Given the description of an element on the screen output the (x, y) to click on. 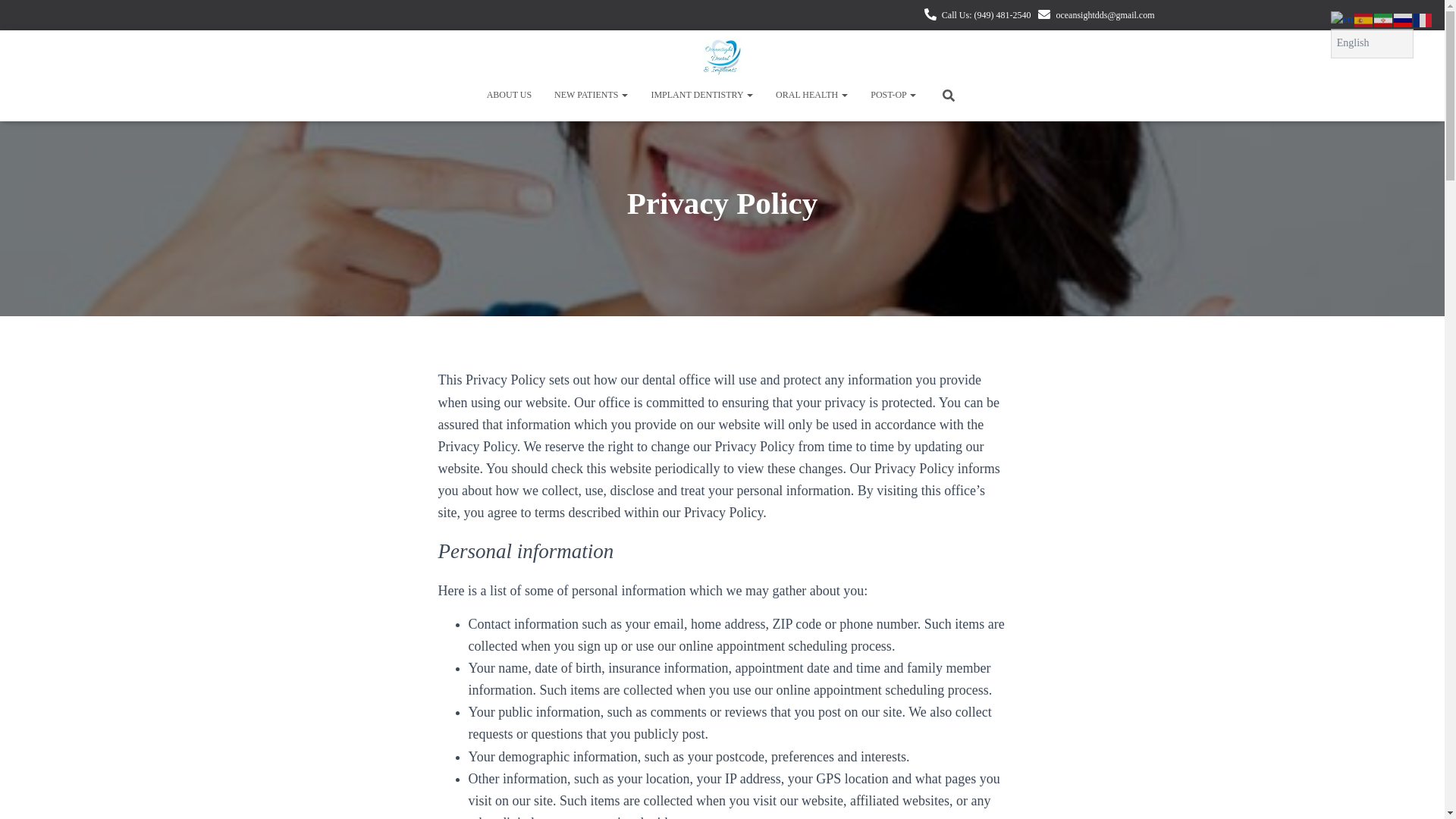
Implant Dentistry (701, 94)
ABOUT US (509, 94)
NEW PATIENTS (591, 94)
POST-OP (893, 94)
Search (16, 16)
About US (509, 94)
ORAL HEALTH (811, 94)
IMPLANT DENTISTRY (701, 94)
New Patients (591, 94)
